Given the description of an element on the screen output the (x, y) to click on. 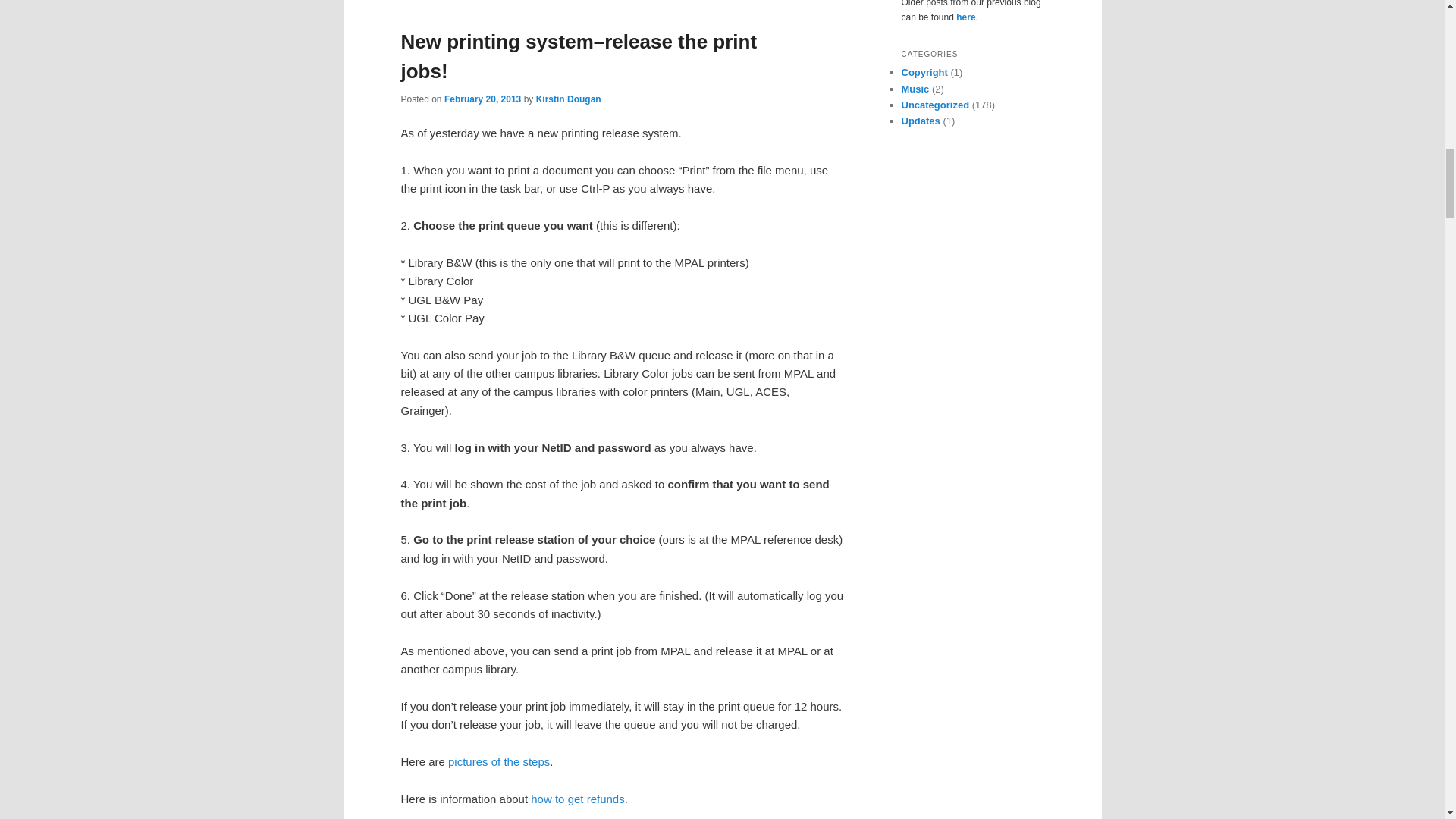
February 20, 2013 (482, 99)
pictures of the steps (499, 761)
Kirstin Dougan (568, 99)
1:00 pm (482, 99)
how to get refunds (577, 798)
View all posts by Kirstin Dougan (568, 99)
